Given the description of an element on the screen output the (x, y) to click on. 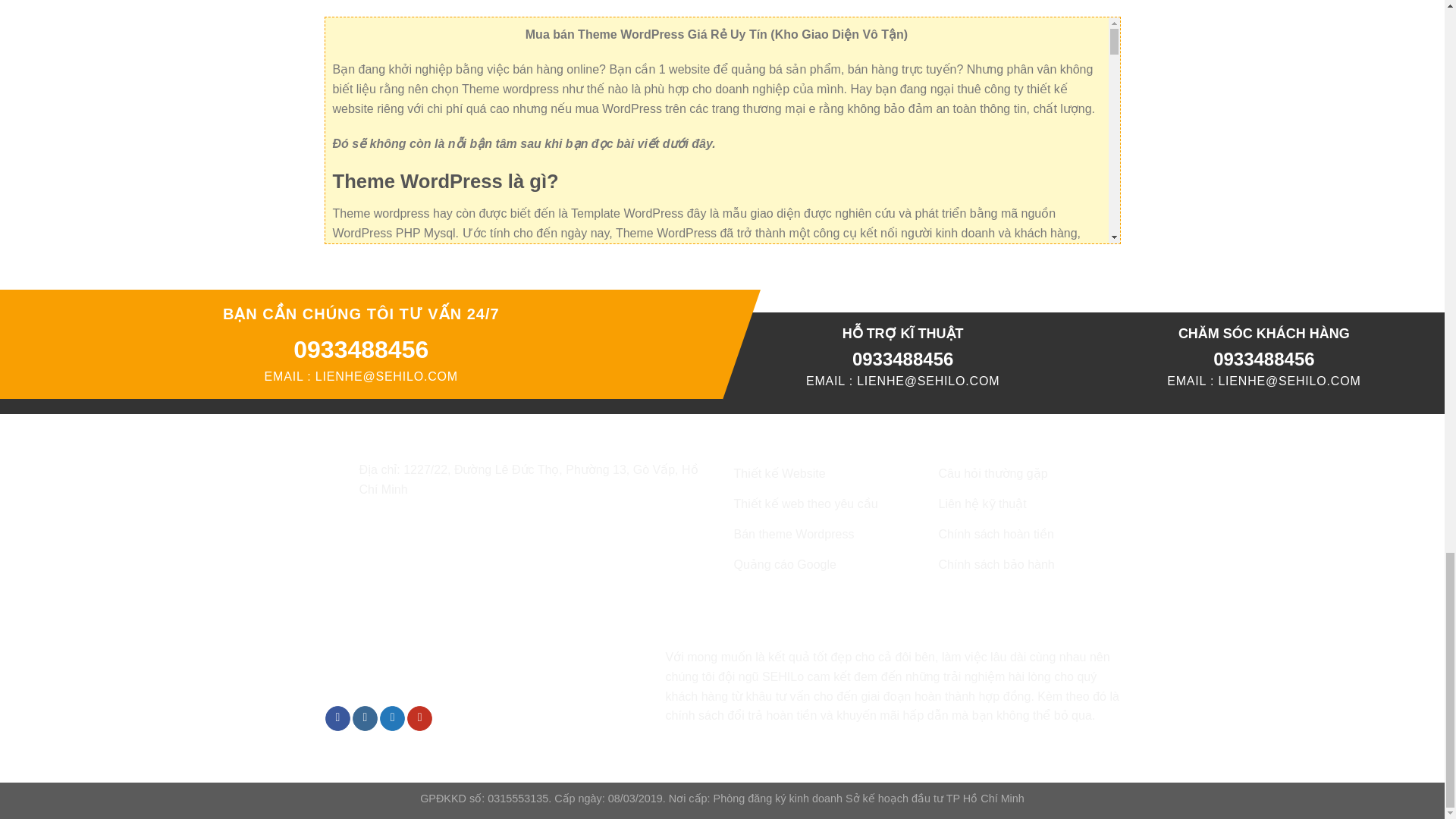
Follow on Instagram (364, 718)
Follow on YouTube (419, 718)
Follow on Twitter (392, 718)
Follow on Facebook (337, 718)
